Given the description of an element on the screen output the (x, y) to click on. 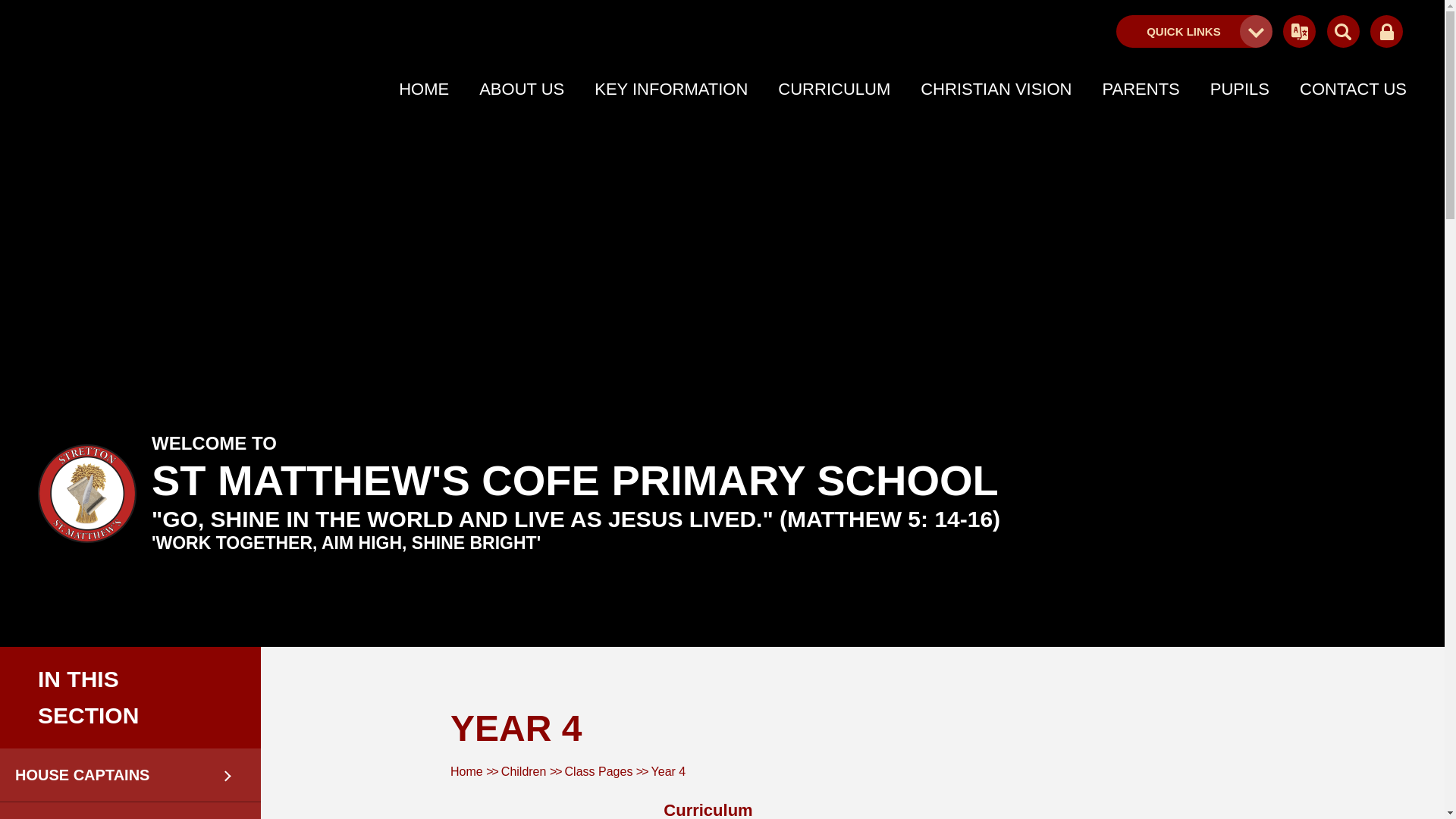
Home Page (86, 493)
KEY INFORMATION (671, 89)
ABOUT US (521, 89)
Log in (1386, 32)
HOME (423, 89)
